Given the description of an element on the screen output the (x, y) to click on. 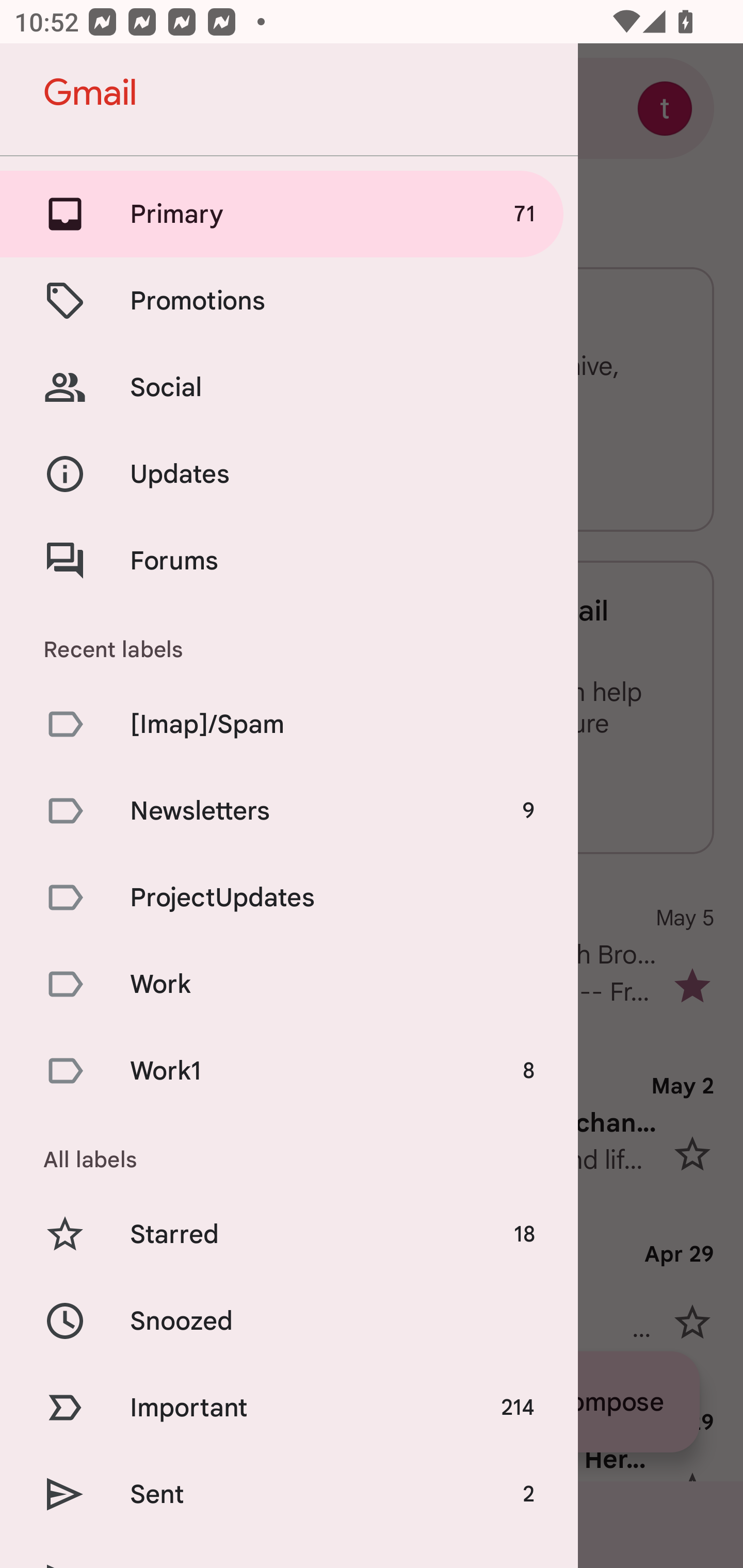
Primary 71 (289, 213)
Promotions (289, 300)
Social (289, 387)
Updates (289, 474)
Forums (289, 560)
[Imap]/Spam (289, 723)
Newsletters 9 (289, 810)
ProjectUpdates (289, 897)
Work (289, 983)
Work1 8 (289, 1070)
Starred 18 (289, 1234)
Snoozed (289, 1320)
Important 214 (289, 1407)
Sent 2 (289, 1494)
